Given the description of an element on the screen output the (x, y) to click on. 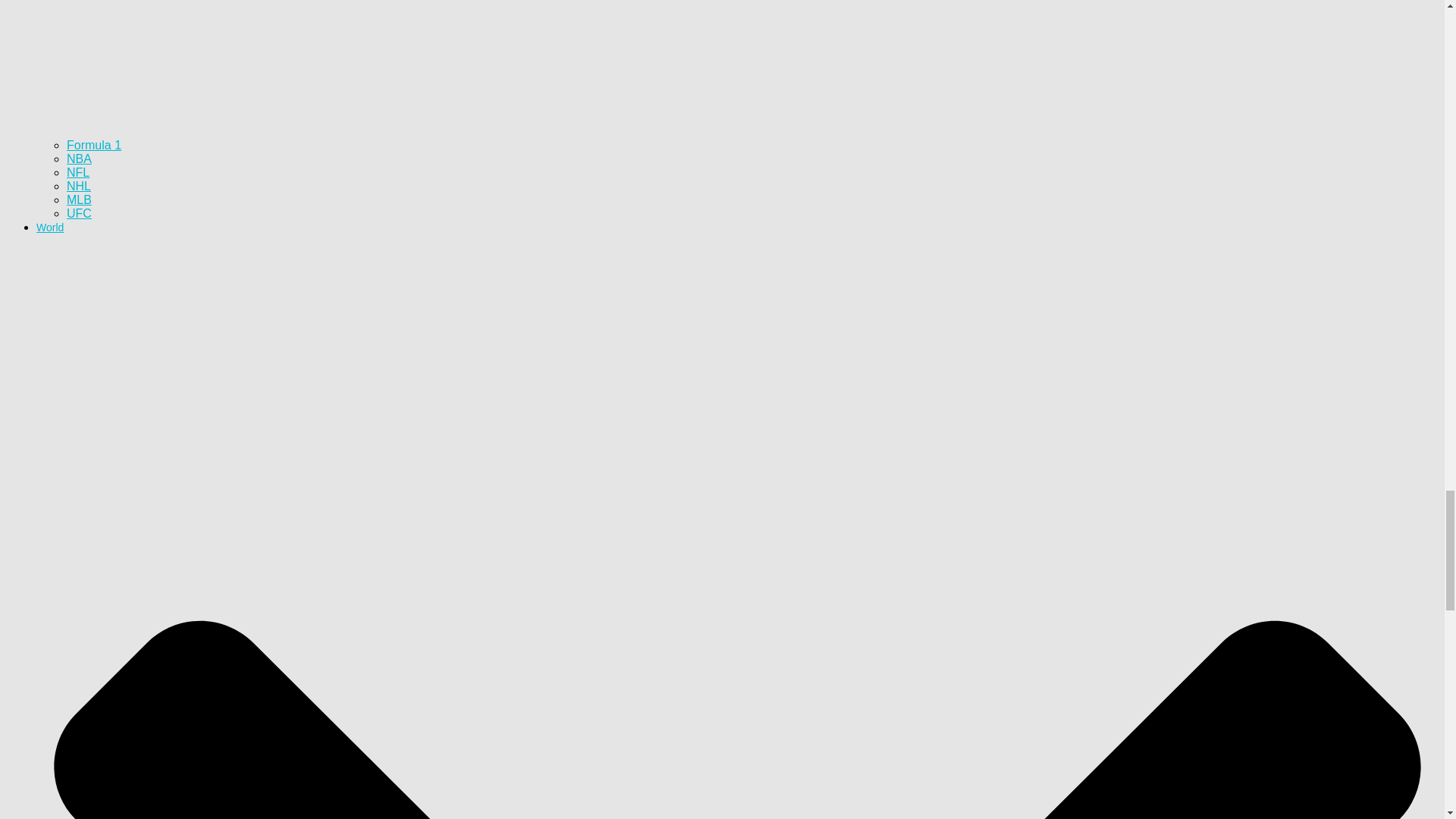
NBA (78, 158)
NHL (78, 185)
UFC (78, 213)
NBA (78, 158)
Formula 1 (93, 144)
NFL (77, 172)
NFL (77, 172)
MLB (78, 199)
NHL (78, 185)
Formula 1 (93, 144)
